Given the description of an element on the screen output the (x, y) to click on. 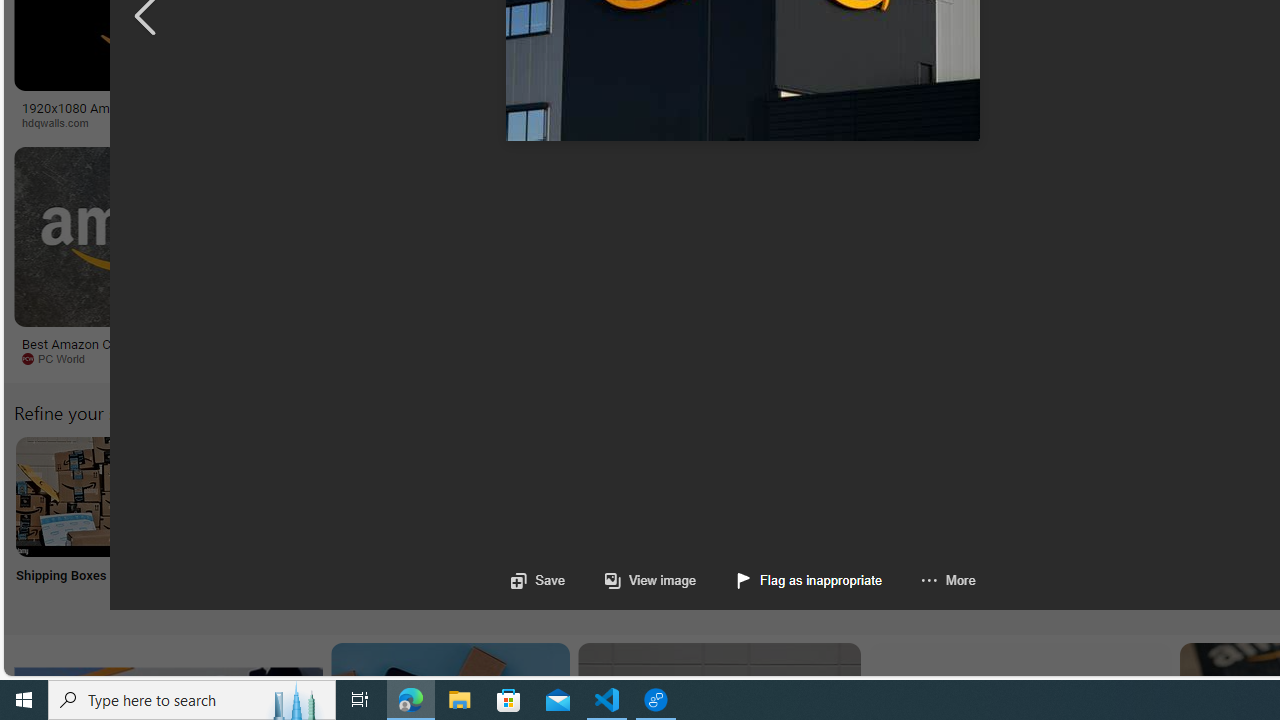
Wish List (999, 521)
Flag as inappropriate (809, 580)
Package Delivery (735, 521)
Long Island Press (1105, 123)
Amazon Retail Store Retail Store (867, 521)
Jobs Near Me (604, 521)
Log into My Account (472, 521)
Shipping Boxes (74, 521)
